Given the description of an element on the screen output the (x, y) to click on. 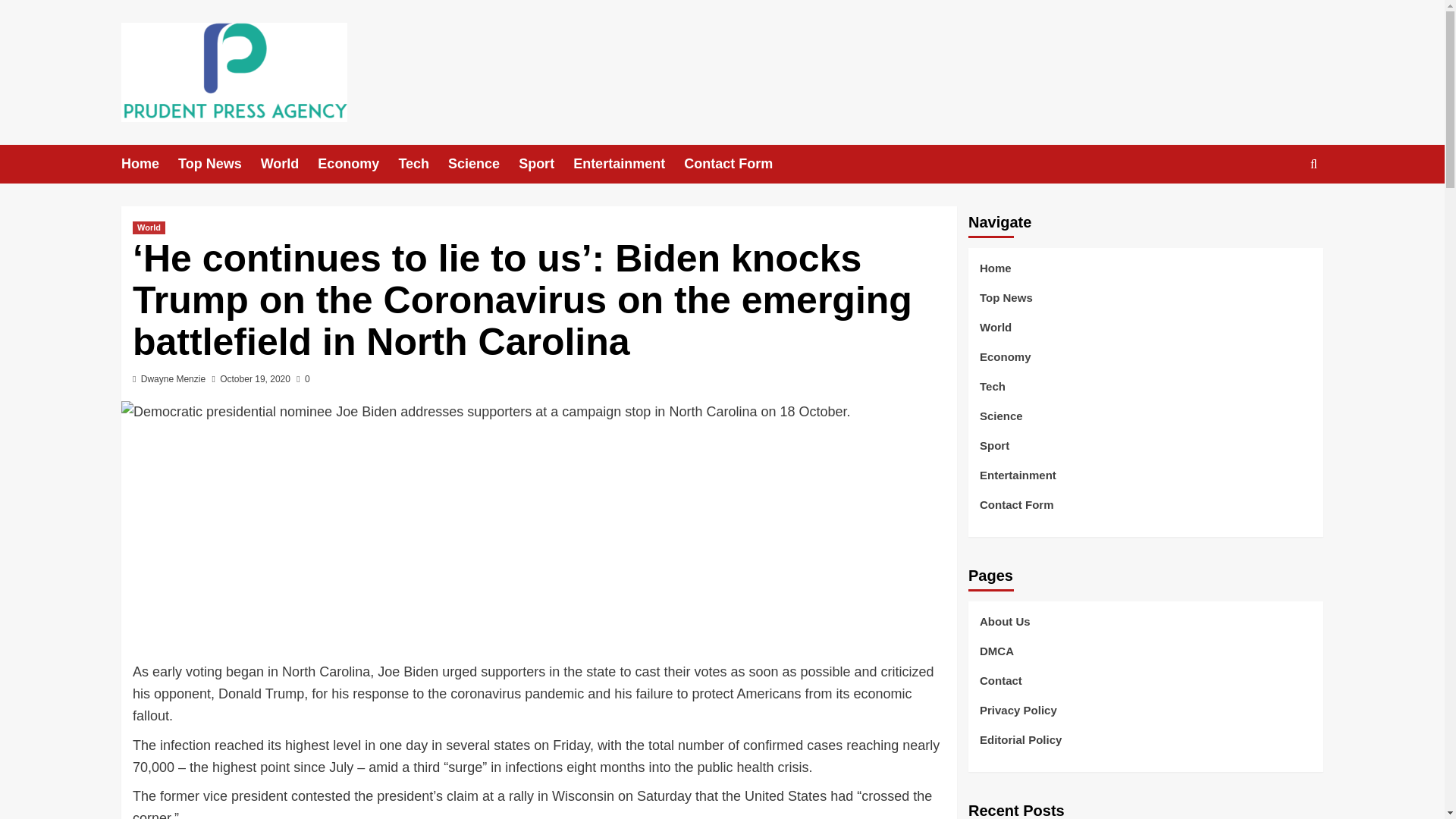
Search (1278, 211)
0 (302, 378)
Tech (422, 163)
Dwayne Menzie (173, 378)
Contact Form (738, 163)
Sport (545, 163)
Top News (218, 163)
Home (148, 163)
Science (483, 163)
Entertainment (628, 163)
World (148, 227)
Economy (357, 163)
World (289, 163)
Search (1313, 162)
